Given the description of an element on the screen output the (x, y) to click on. 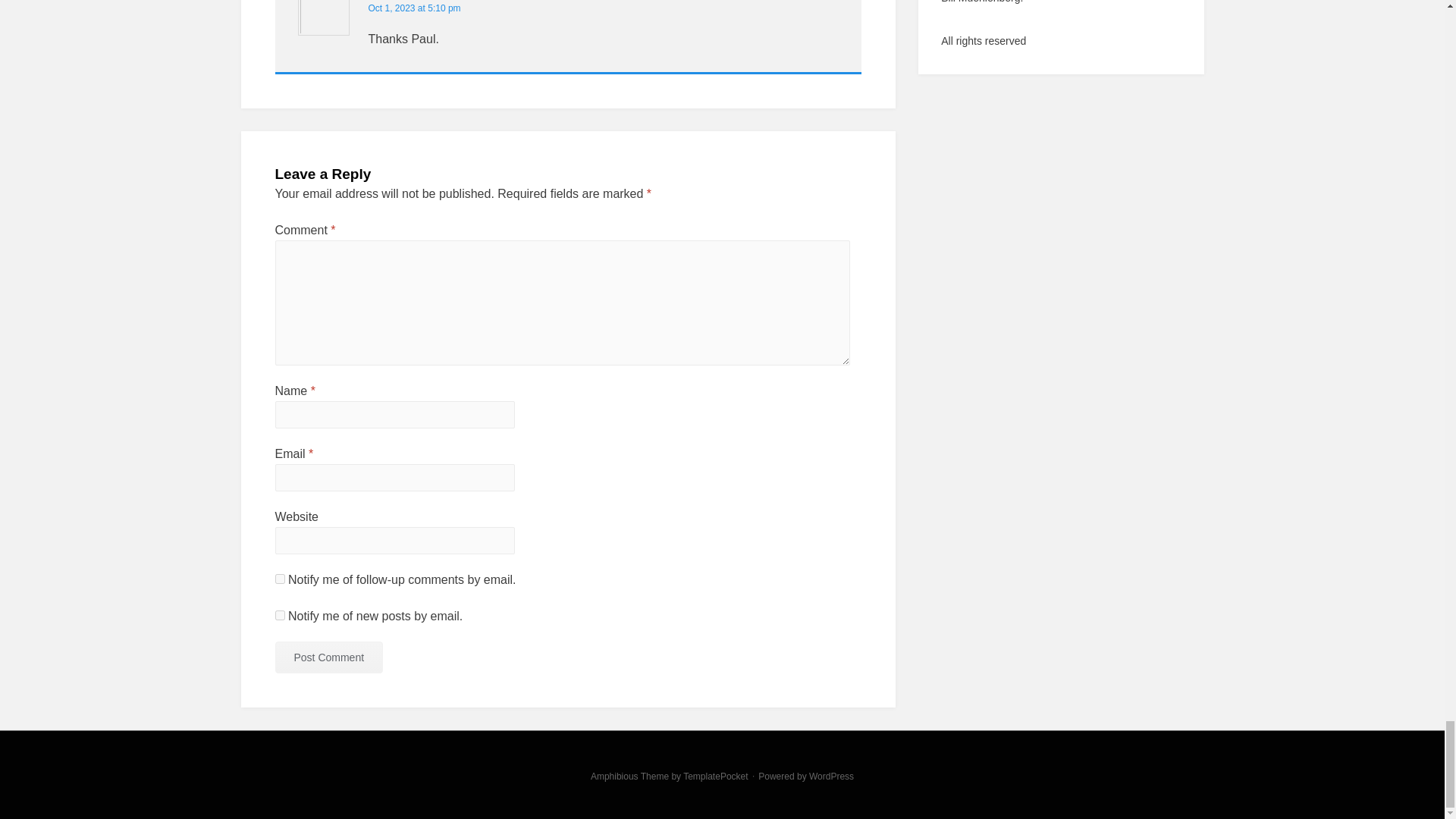
subscribe (279, 578)
Post Comment (328, 657)
subscribe (279, 614)
